Given the description of an element on the screen output the (x, y) to click on. 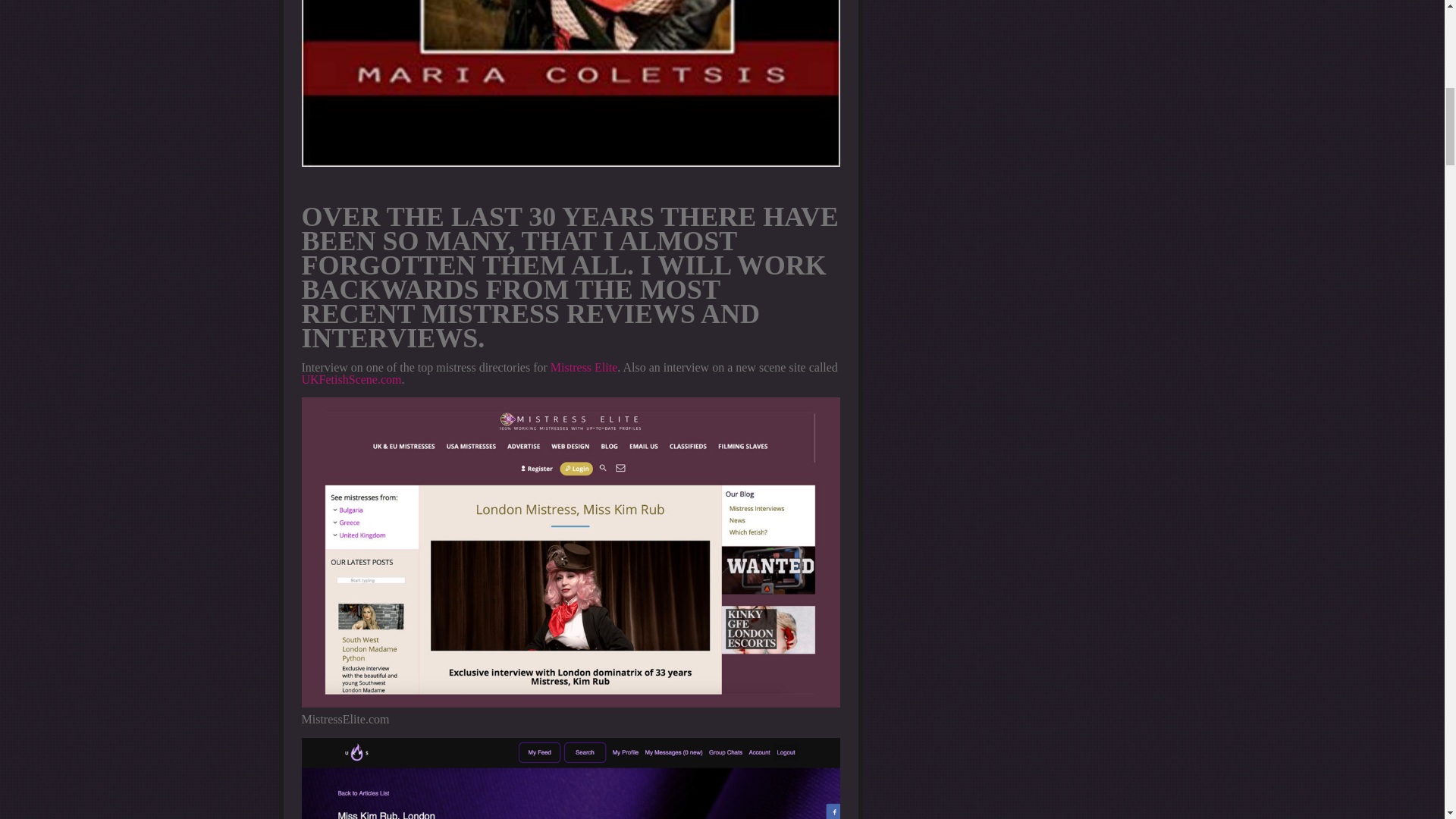
UKFetishScene.com (351, 379)
Mistress Elite (583, 367)
